Given the description of an element on the screen output the (x, y) to click on. 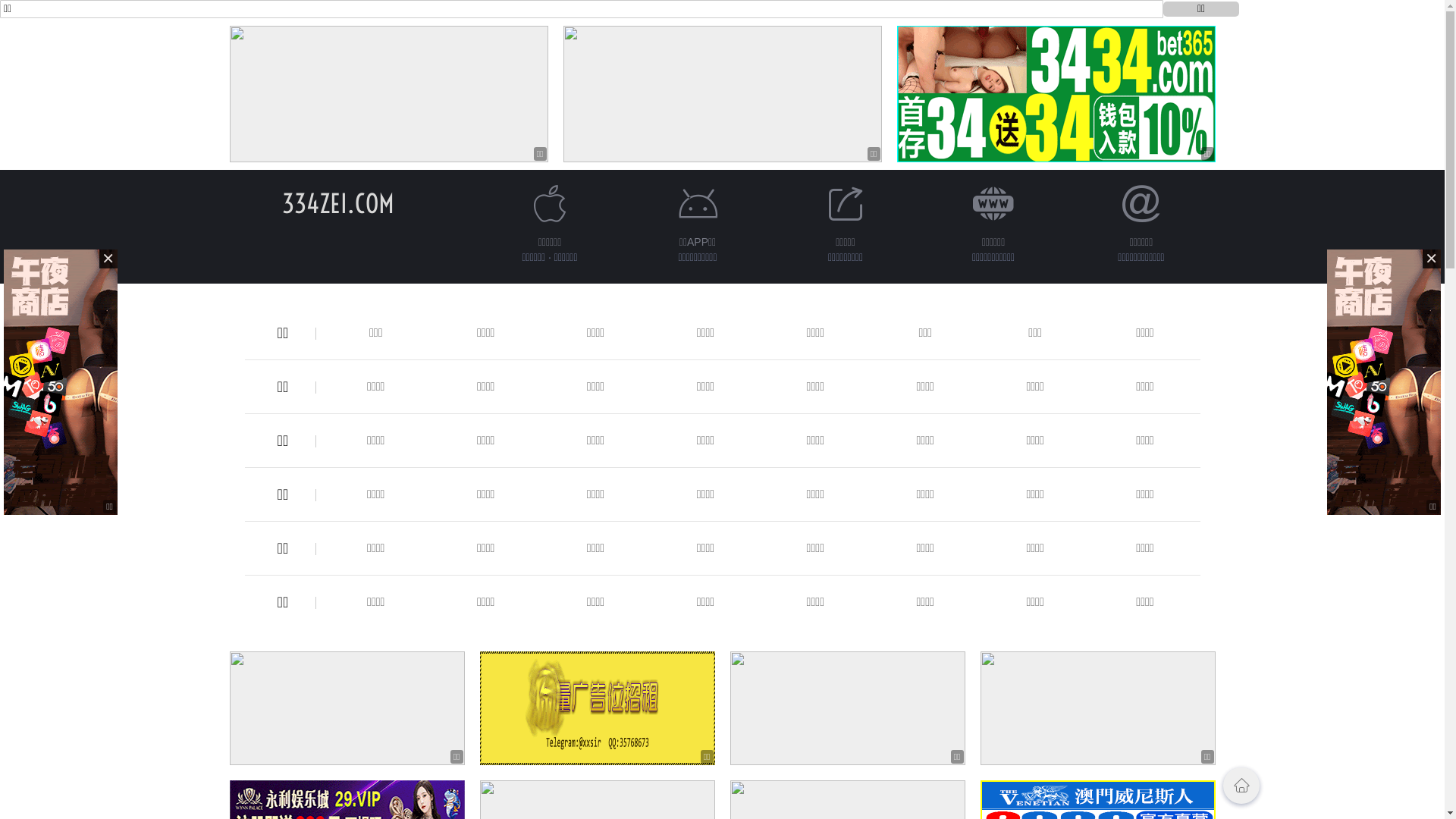
334ZEI.COM Element type: text (338, 203)
